Given the description of an element on the screen output the (x, y) to click on. 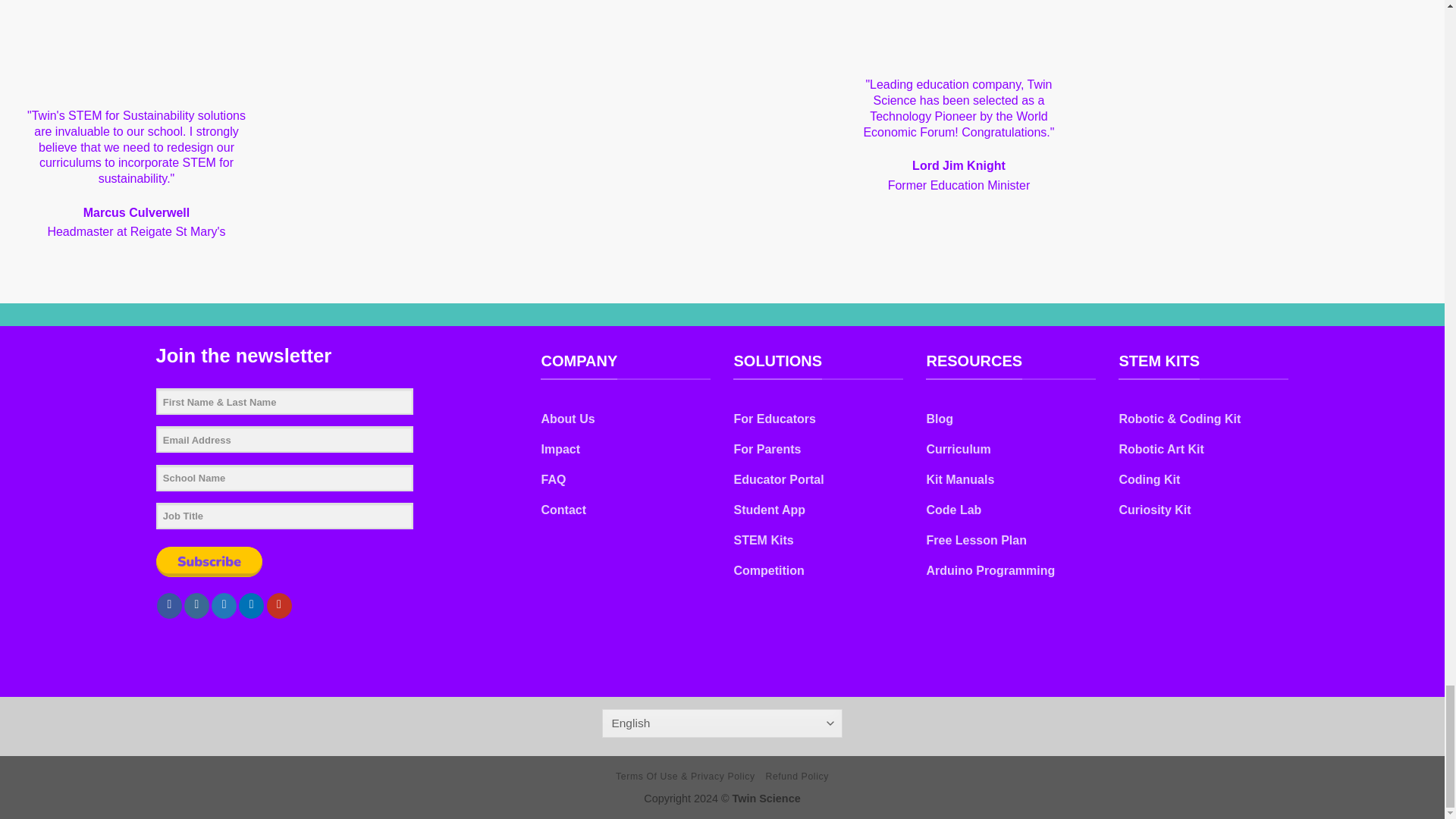
Follow on LinkedIn (250, 605)
Follow on YouTube (279, 605)
Follow on Twitter (223, 605)
Follow on Instagram (196, 605)
Follow on Facebook (169, 605)
